Given the description of an element on the screen output the (x, y) to click on. 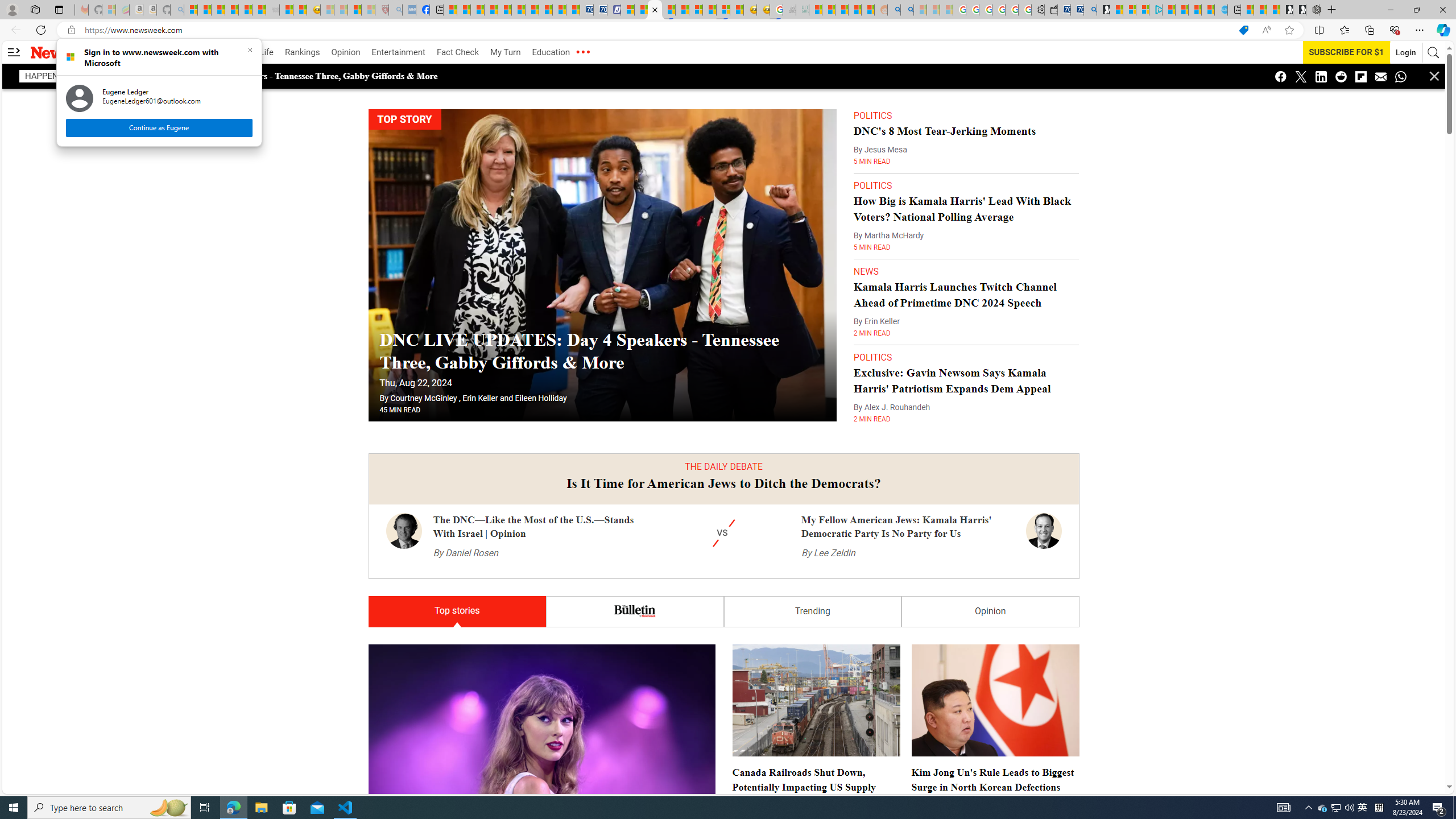
Opinion (345, 52)
Class: the-red (582, 51)
Education (550, 52)
Climate Damage Becomes Too Severe To Reverse (490, 9)
